Given the description of an element on the screen output the (x, y) to click on. 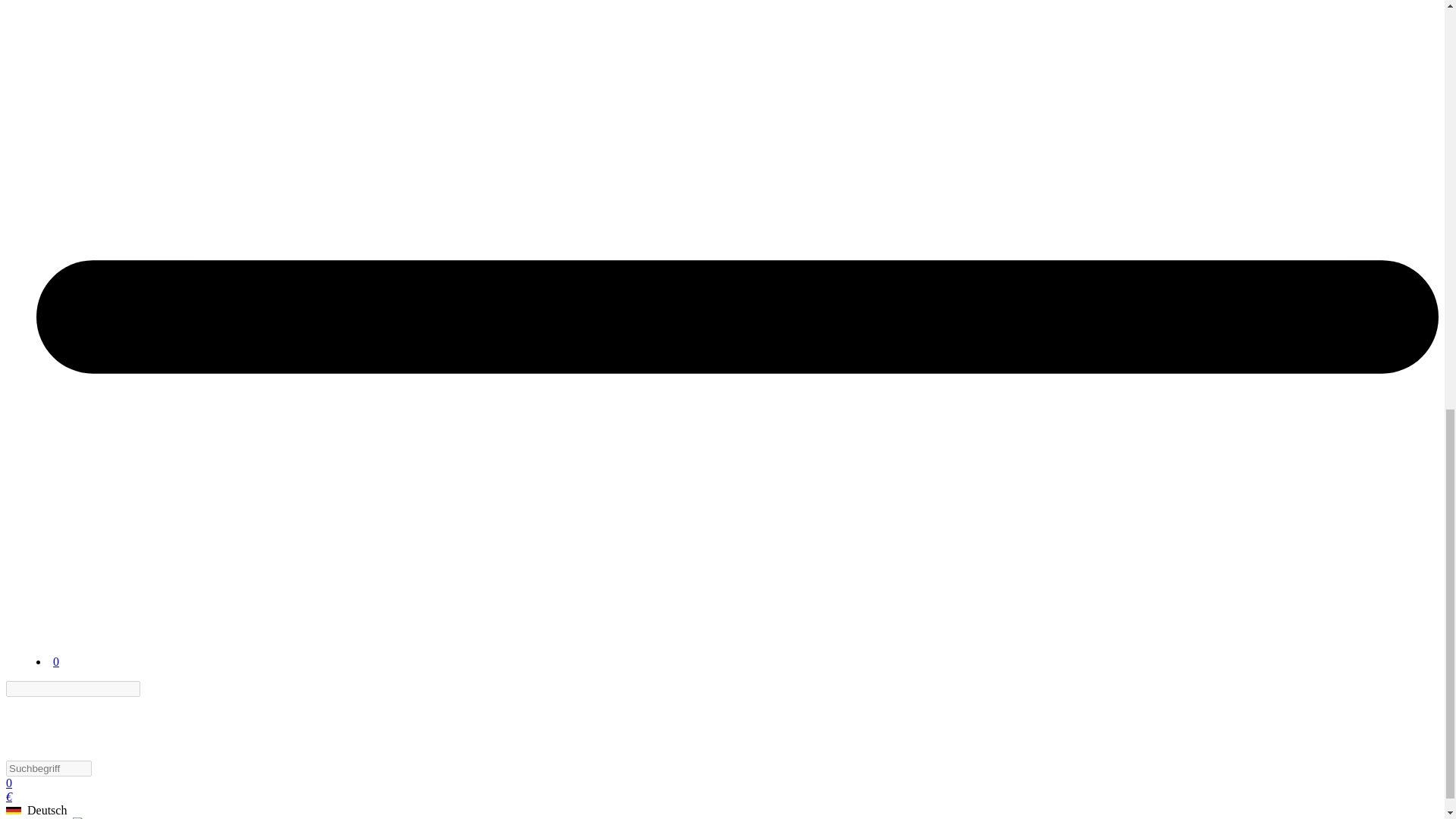
Deutsch (13, 810)
Suche (148, 688)
